Given the description of an element on the screen output the (x, y) to click on. 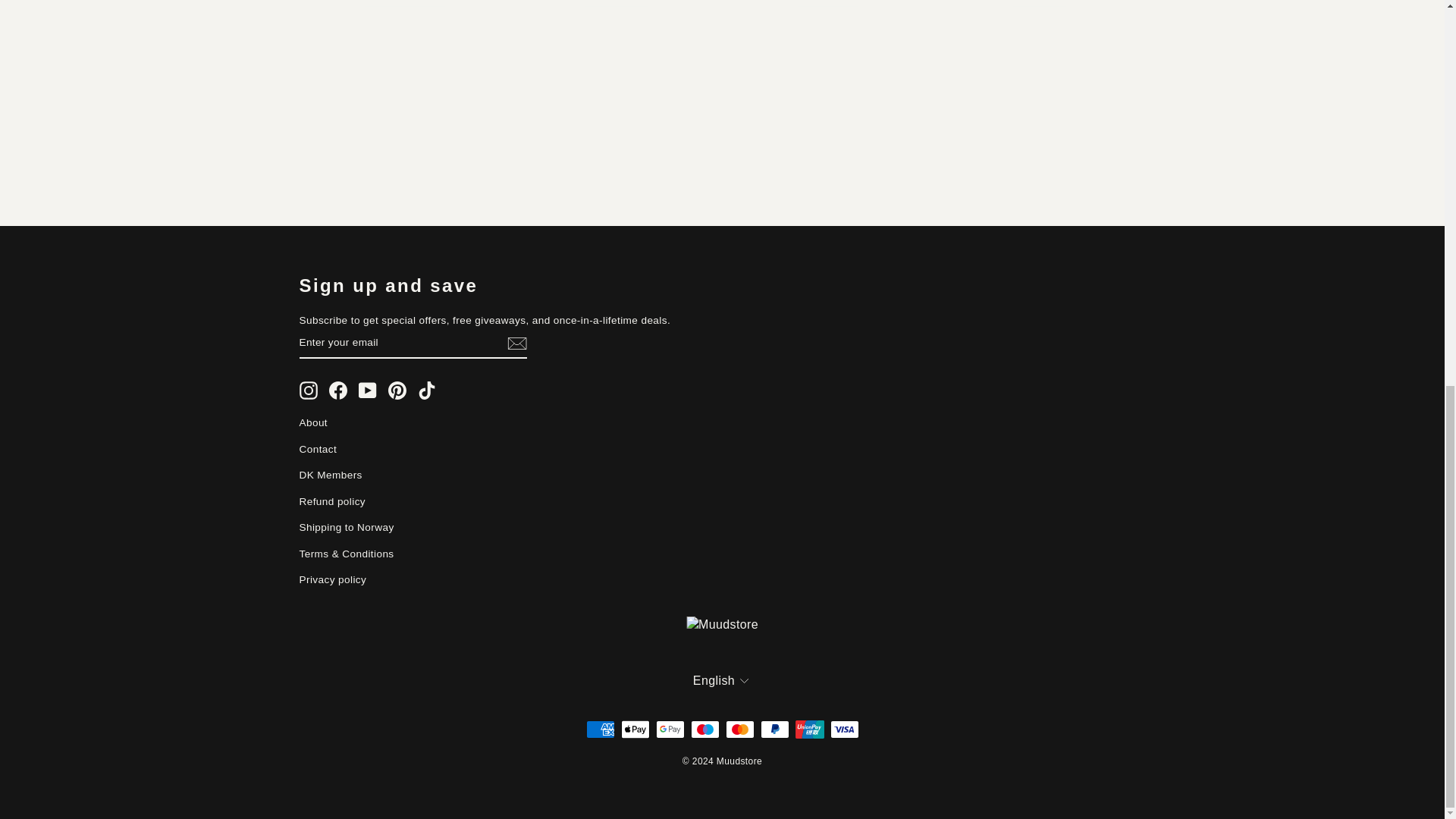
Muudstore on Facebook (338, 390)
Google Pay (669, 729)
Apple Pay (634, 729)
Mastercard (739, 729)
Muudstore on Instagram (307, 390)
PayPal (774, 729)
Maestro (704, 729)
Muudstore on TikTok (425, 390)
American Express (599, 729)
Muudstore on Pinterest (397, 390)
